Given the description of an element on the screen output the (x, y) to click on. 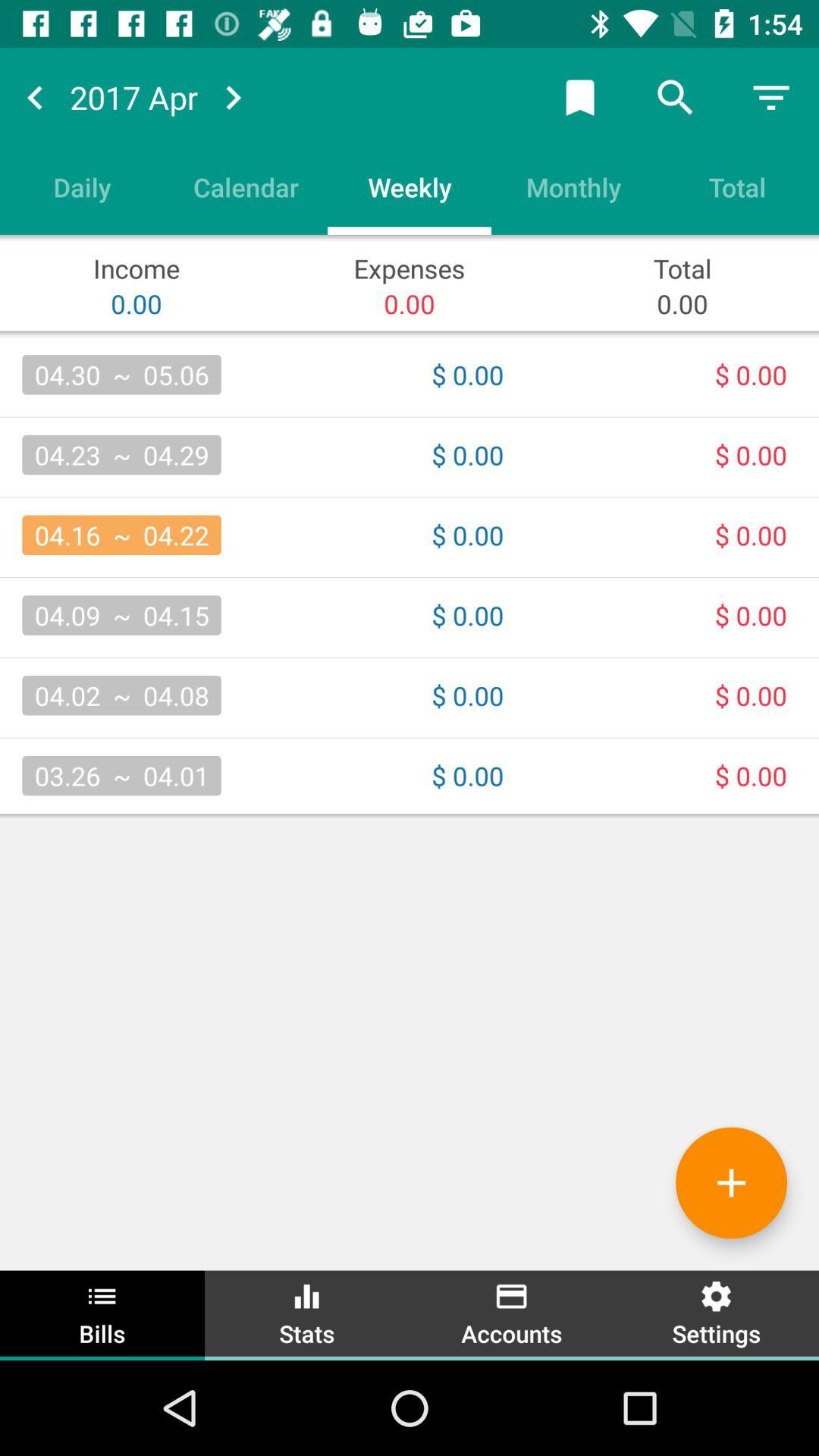
click item next to stats icon (511, 1313)
